Given the description of an element on the screen output the (x, y) to click on. 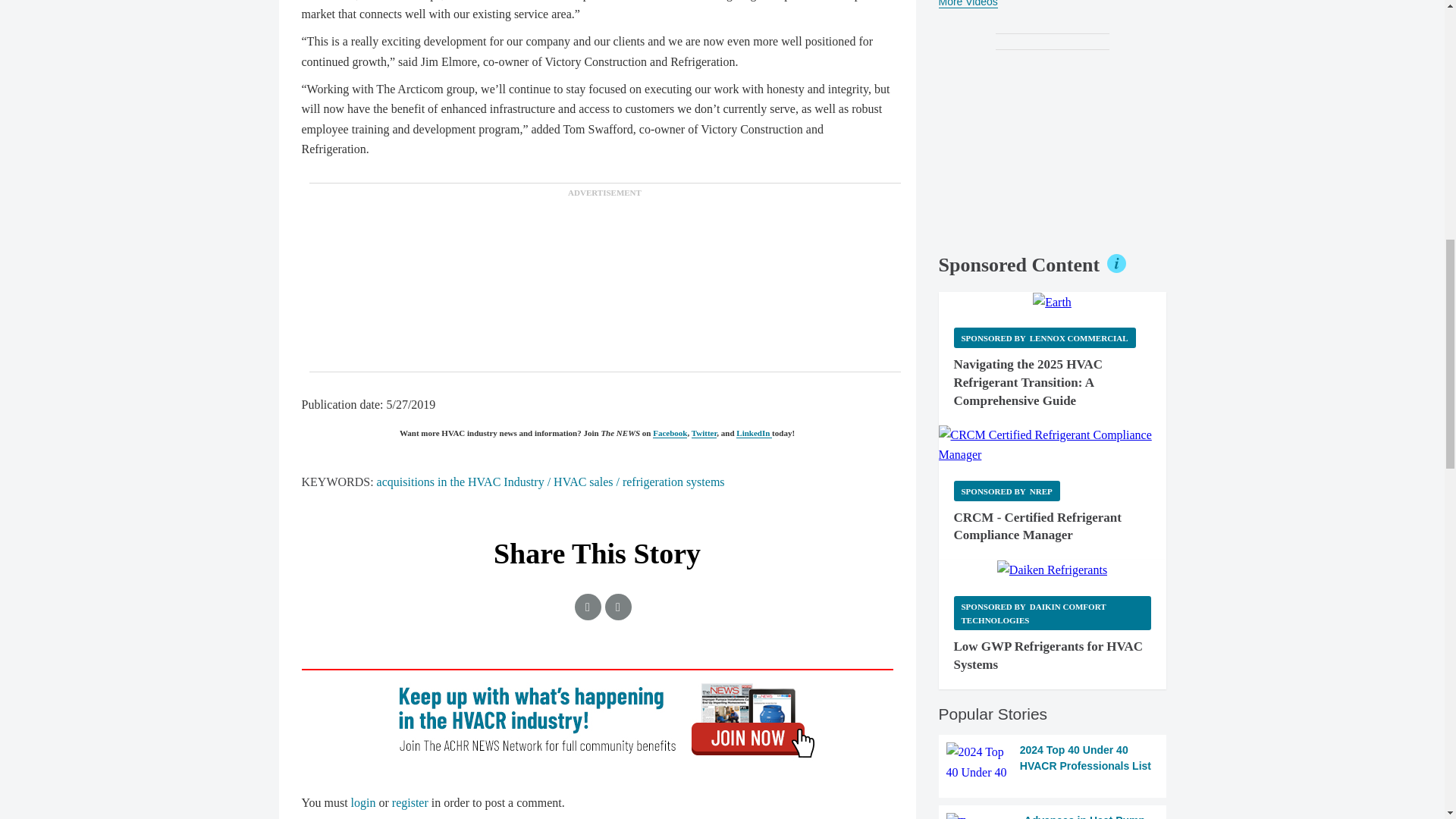
Sponsored by Lennox Commercial (1044, 337)
Sponsored by NREP (1006, 490)
CRCM Certified Refrigerant Compliance Manager (1052, 445)
Sponsored by Daikin Comfort Technologies (1052, 612)
Advances in Heat Pump Rooftop Units for Cold Climates (1052, 816)
Daiken Refrigerants (1051, 569)
Earth (1051, 302)
2024 Top 40 Under 40 HVACR Professionals List (1052, 762)
